Given the description of an element on the screen output the (x, y) to click on. 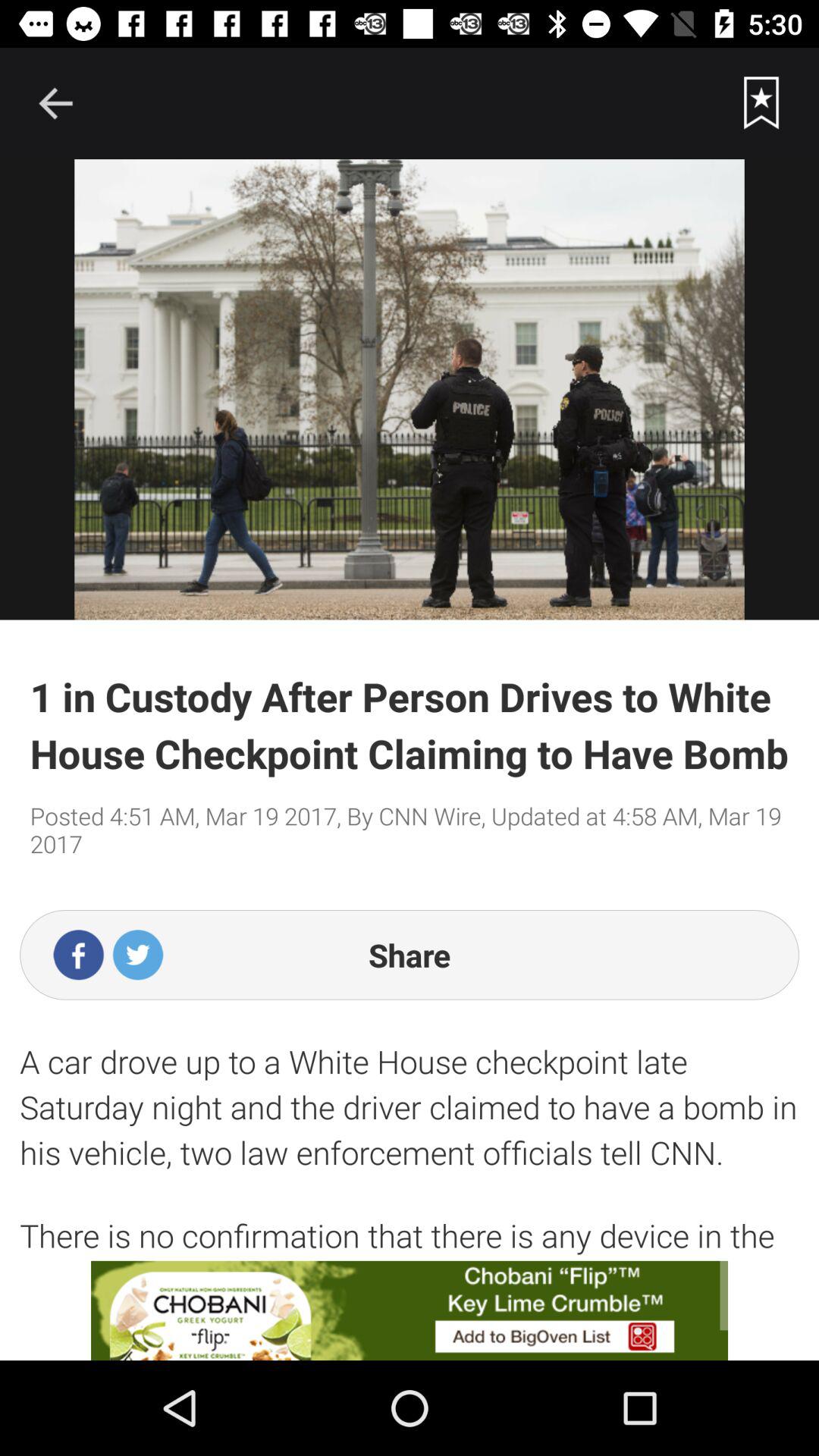
content back button (55, 103)
